Given the description of an element on the screen output the (x, y) to click on. 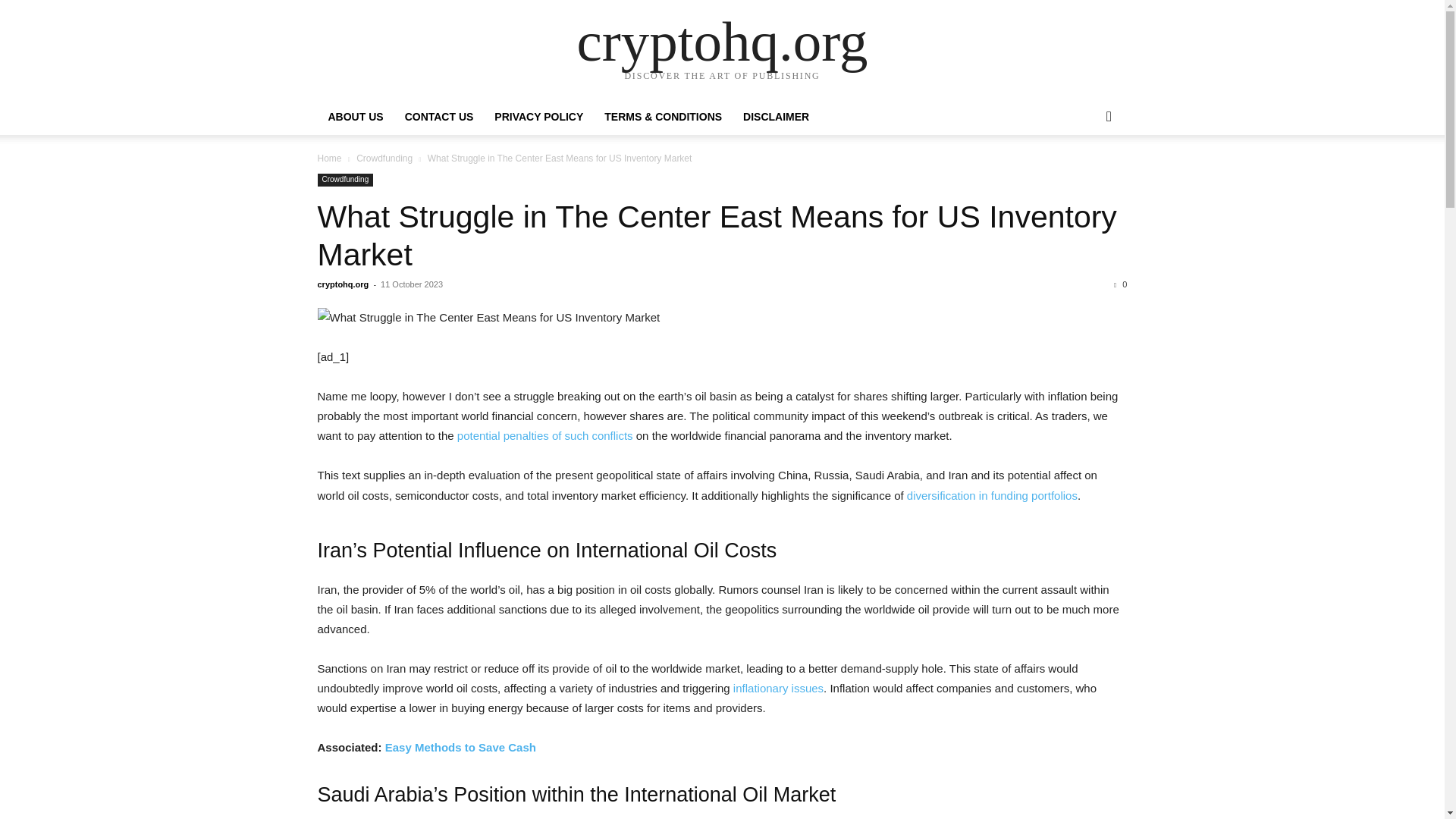
0 (1119, 284)
Home (328, 158)
diversification in funding portfolios (992, 495)
Crowdfunding (384, 158)
View all posts in Crowdfunding (384, 158)
Crowdfunding (344, 179)
CONTACT US (439, 116)
cryptohq.org (721, 41)
ABOUT US (355, 116)
potential penalties of such conflicts (545, 435)
PRIVACY POLICY (538, 116)
cryptohq.org (342, 284)
Search (1085, 177)
